Given the description of an element on the screen output the (x, y) to click on. 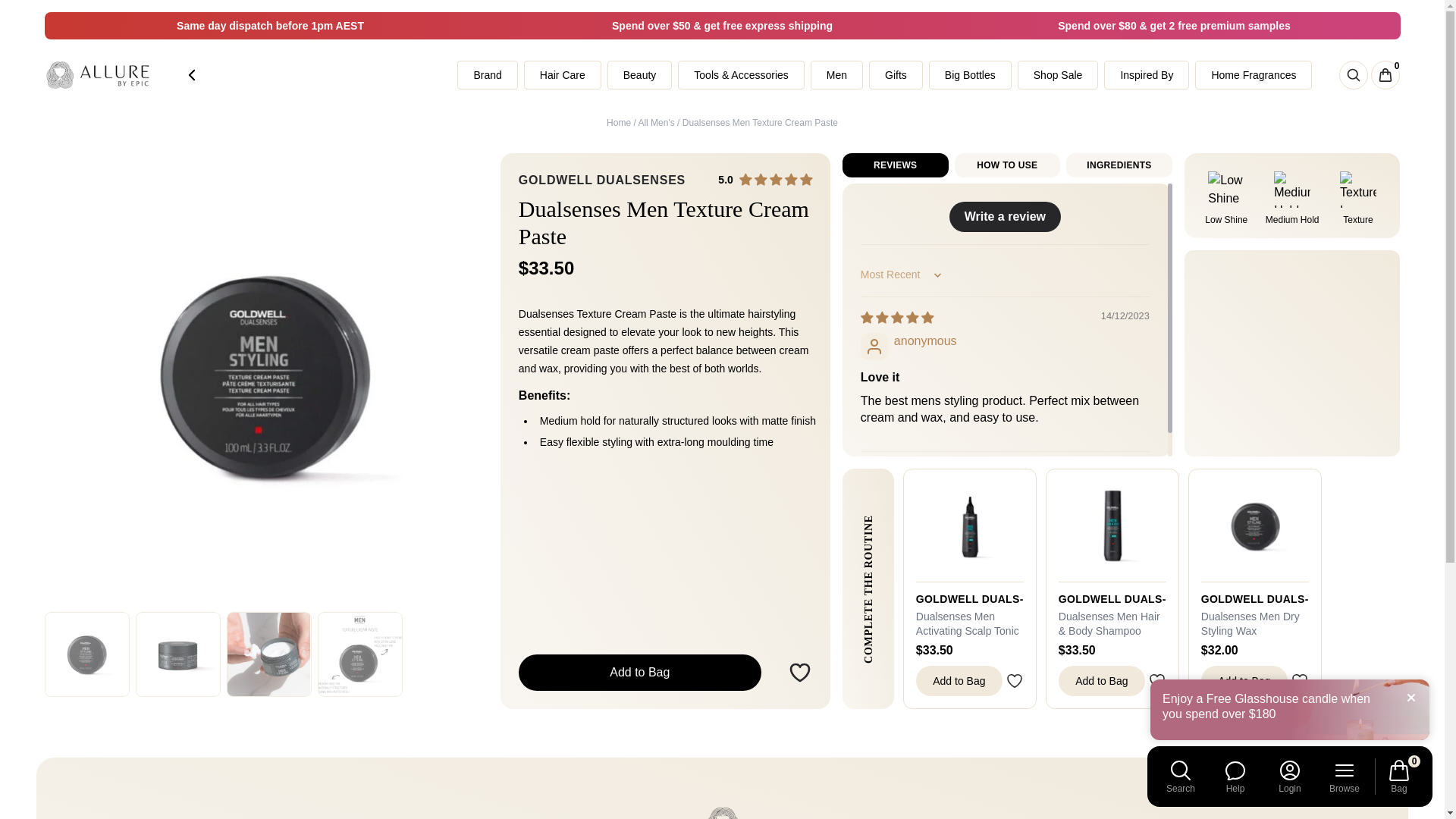
Beauty (639, 74)
Shop Sale (1058, 74)
Allure by Epic (97, 75)
Brand (486, 74)
Write a review (1005, 216)
Inspired By (1146, 74)
Search Allure by Epic (1353, 74)
Big Bottles (969, 74)
Previous Page (191, 74)
Men (836, 74)
Gifts (896, 74)
Open your cart (1385, 74)
Hair Care (562, 74)
Home Fragrances (1253, 74)
